Given the description of an element on the screen output the (x, y) to click on. 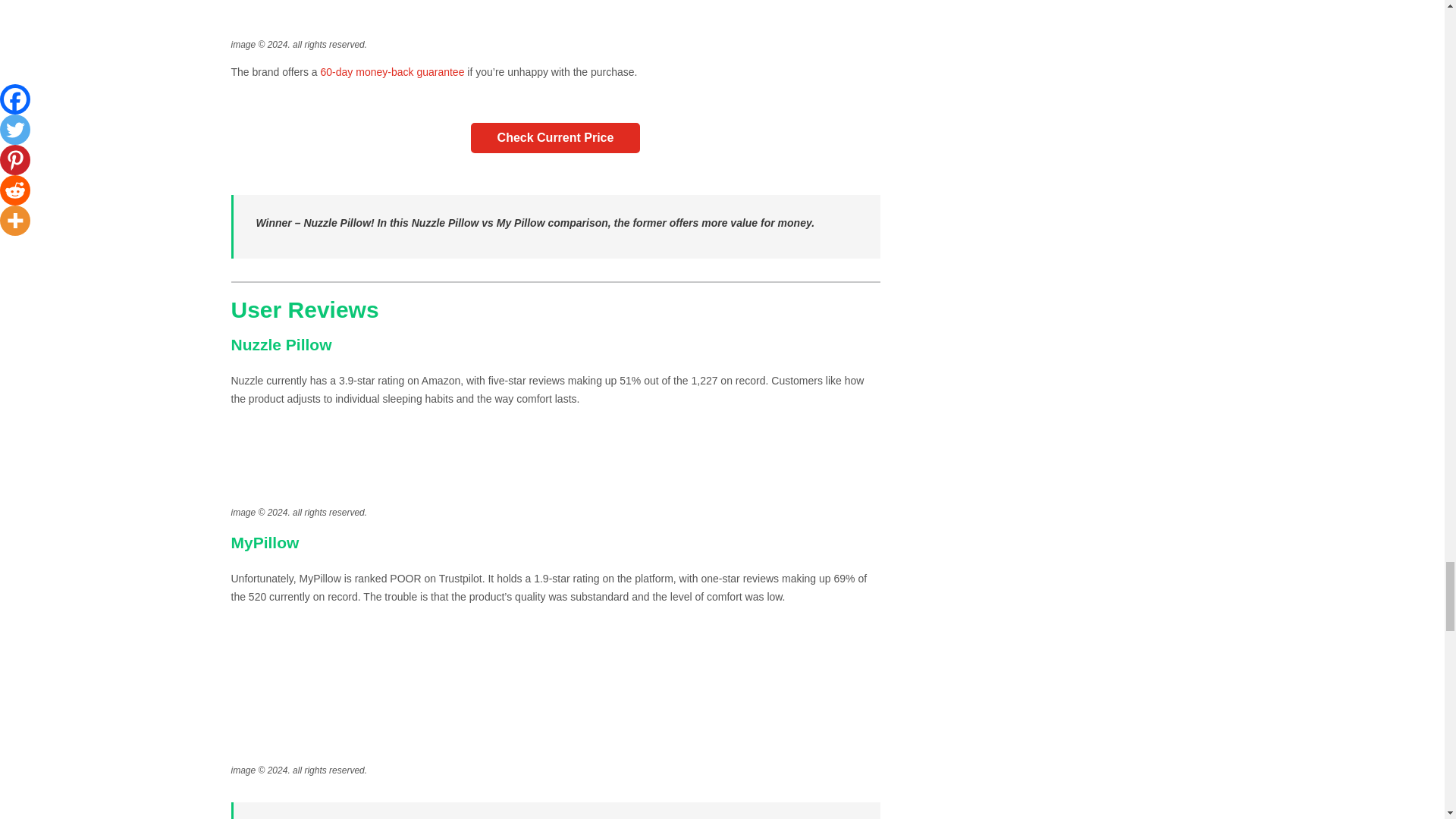
mypillow trustpilot (554, 694)
60-day money-back guarantee (392, 71)
mypillow pricing (554, 18)
nuzzle amazon (554, 466)
Check Current Price (555, 137)
